Given the description of an element on the screen output the (x, y) to click on. 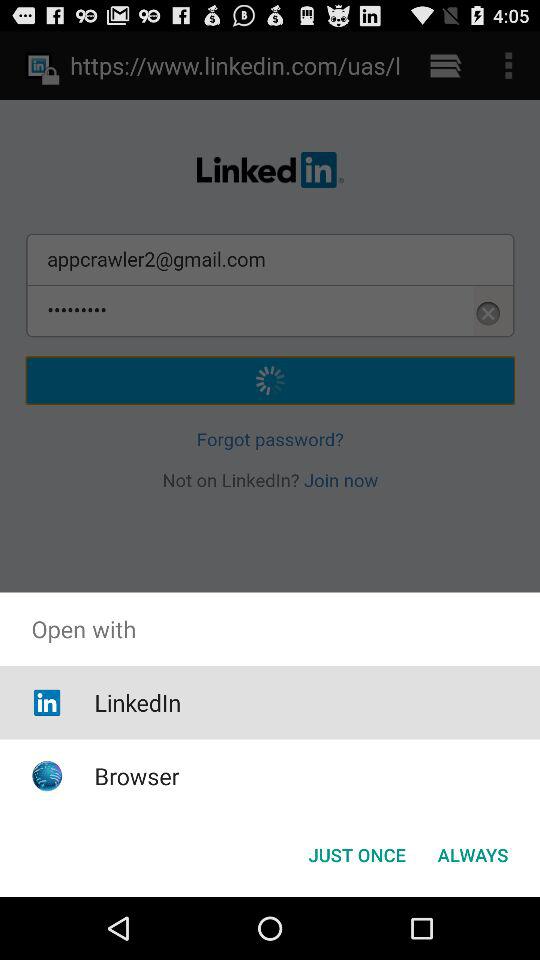
turn on browser item (136, 775)
